Given the description of an element on the screen output the (x, y) to click on. 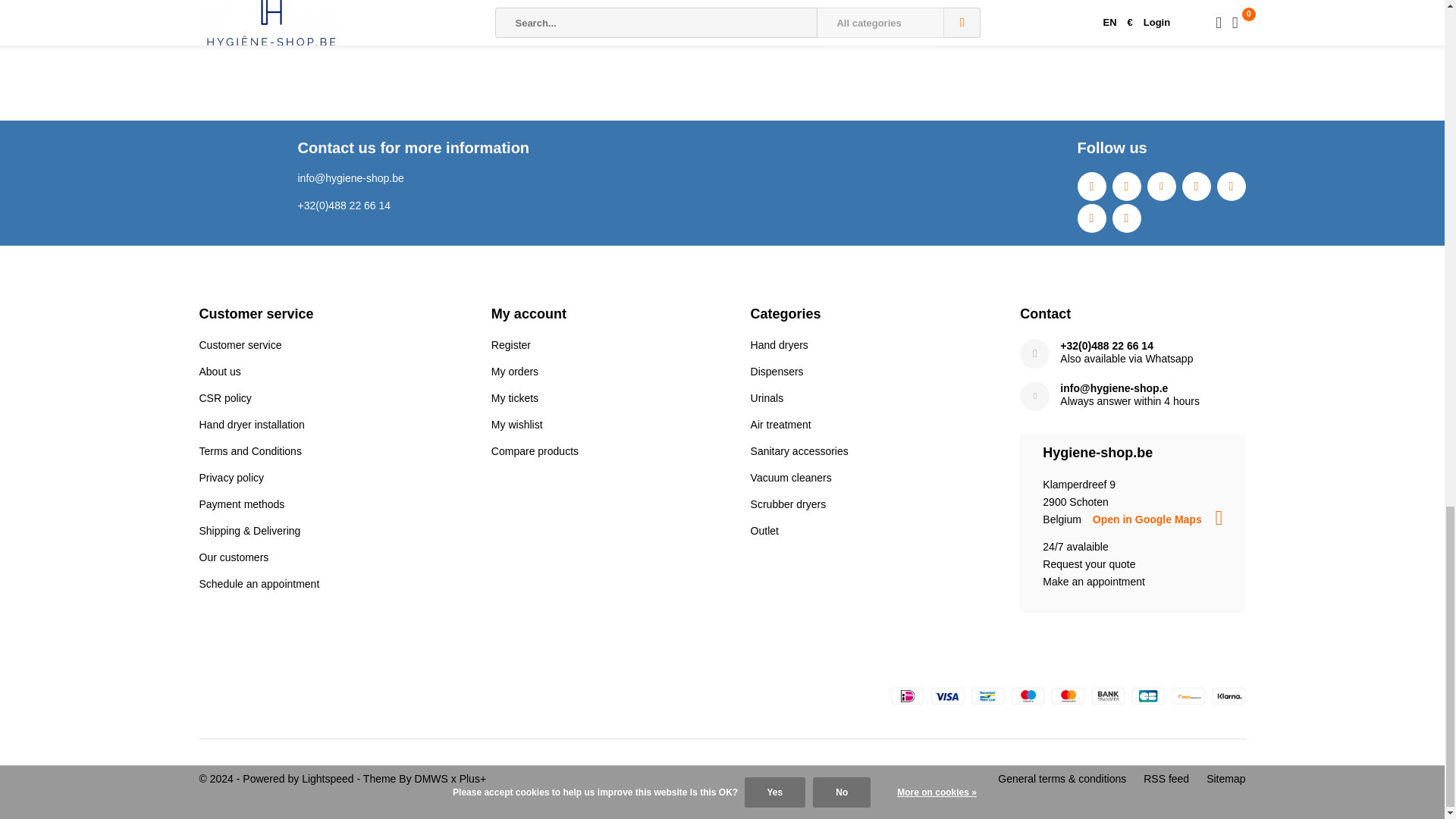
My orders (515, 371)
 CSR policy (224, 398)
Lightspeed (327, 778)
My tickets (515, 398)
Register (511, 345)
My wishlist (517, 424)
Privacy policy (230, 477)
Hand dryer installation (251, 424)
Our customers (232, 557)
Terms and Conditions (249, 451)
Payment methods (240, 503)
Schedule an appointment (258, 583)
Customer service (239, 345)
About us (219, 371)
